Given the description of an element on the screen output the (x, y) to click on. 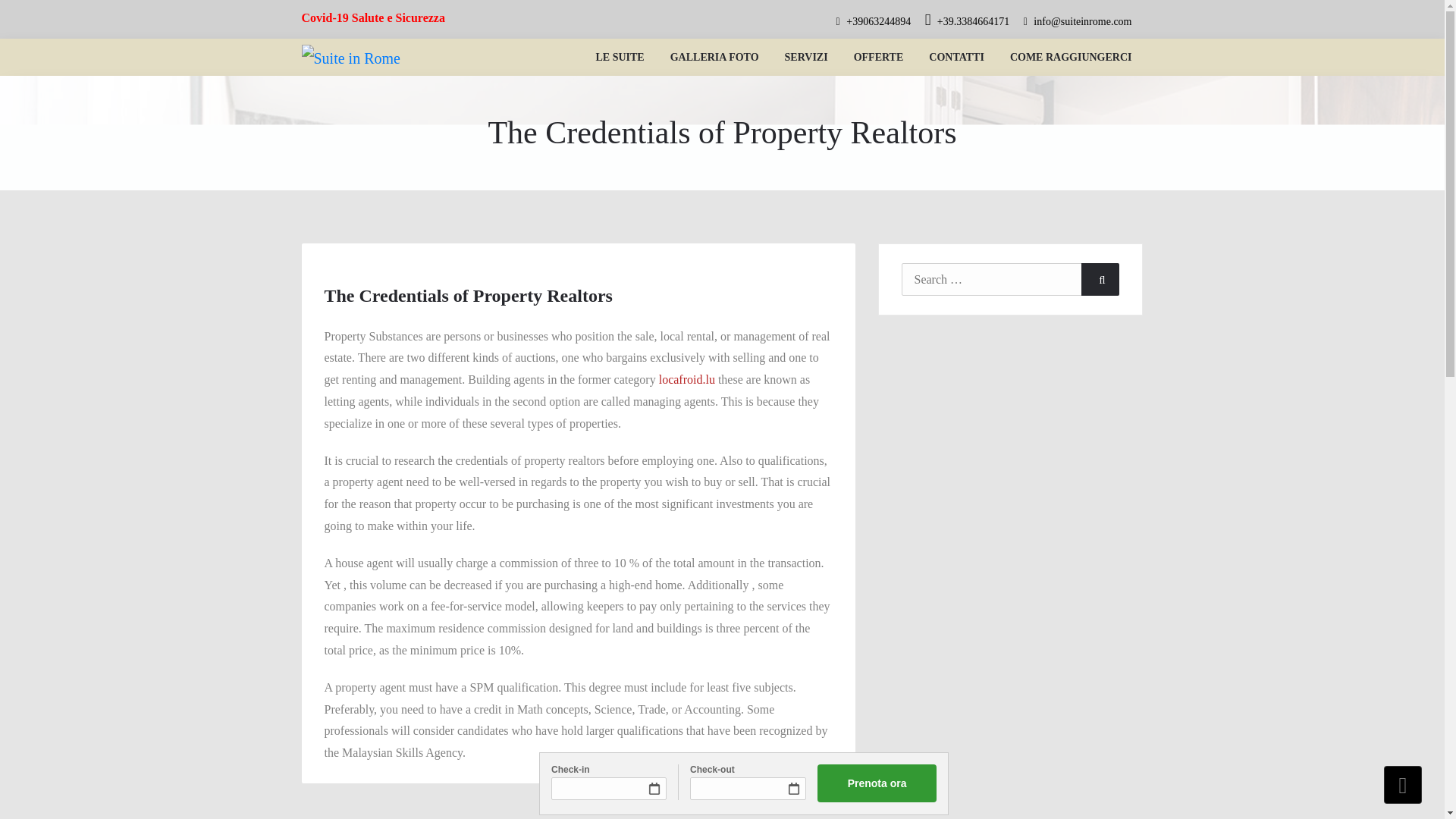
Offerte (879, 57)
GALLERIA FOTO (714, 57)
COME RAGGIUNGERCI (1070, 57)
Servizi (806, 57)
Scroll Top (1403, 784)
LE SUITE (620, 57)
Come Raggiungerci (1070, 57)
locafroid.lu (686, 379)
Prenota ora (876, 783)
CONTATTI (956, 57)
